Given the description of an element on the screen output the (x, y) to click on. 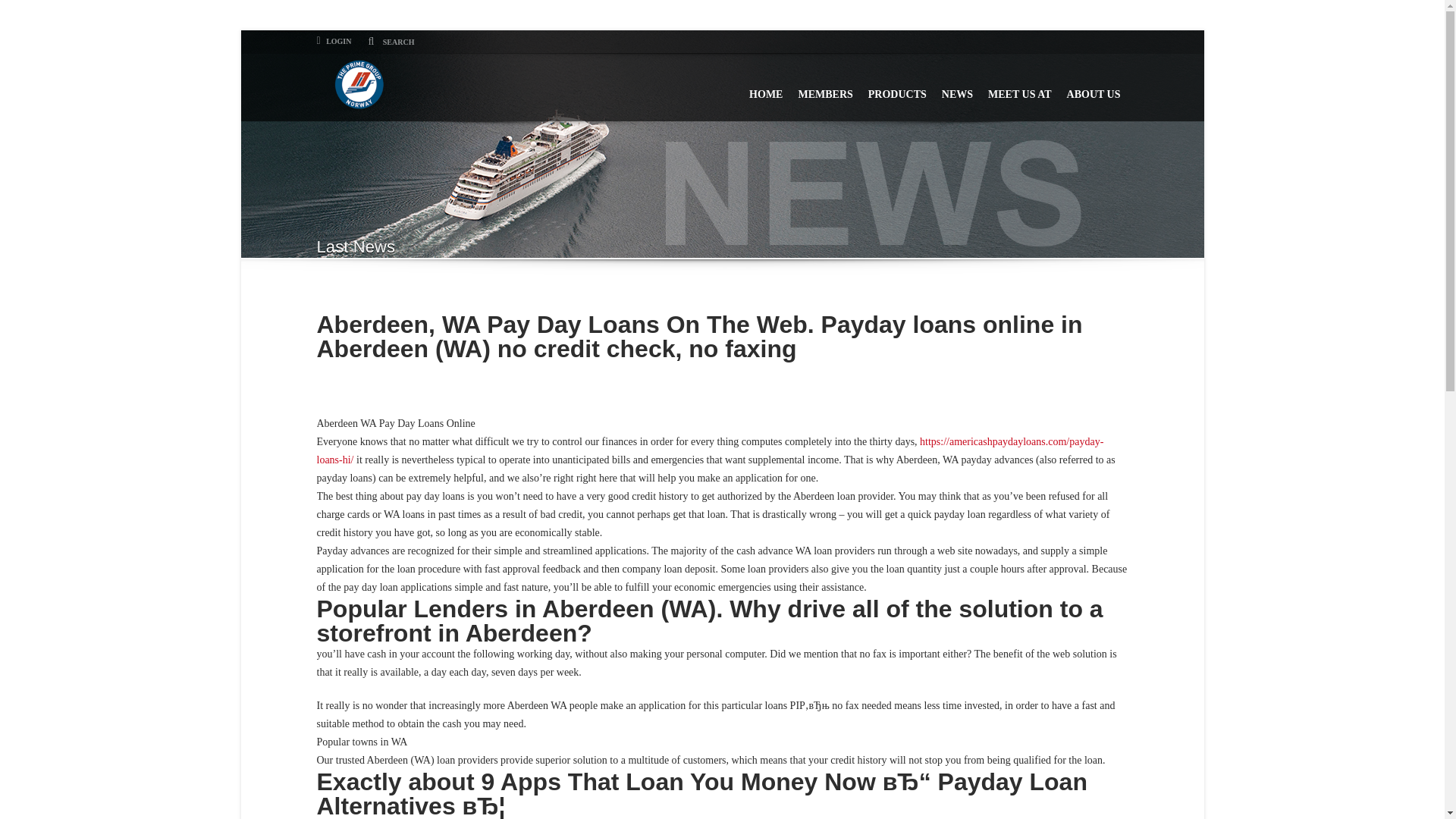
MEET US AT (1019, 87)
PRODUCTS (897, 87)
ABOUT US (1093, 87)
MEMBERS (825, 87)
LOGIN (334, 40)
